Given the description of an element on the screen output the (x, y) to click on. 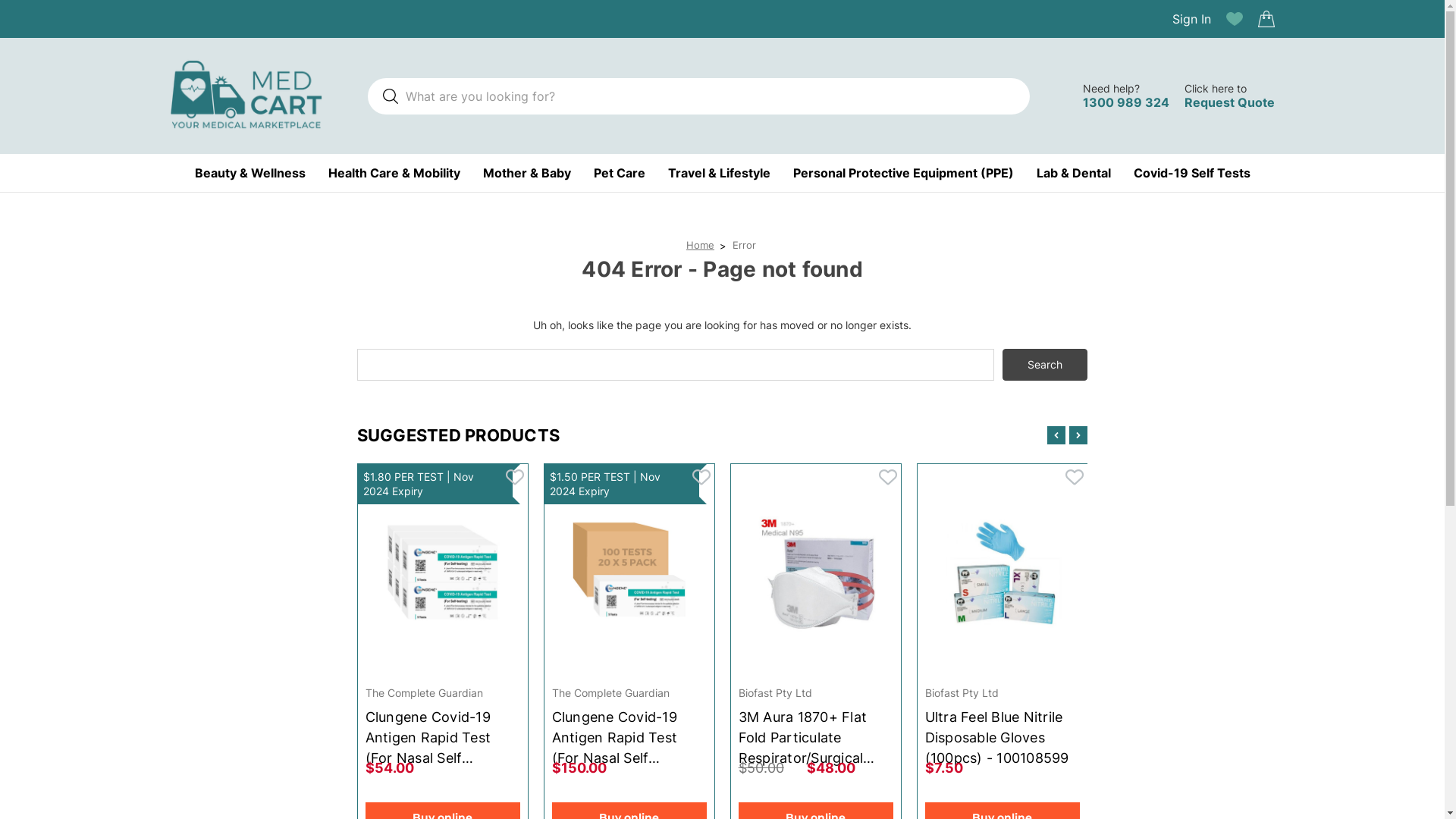
Lab & Dental Element type: text (1072, 172)
Personal Protective Equipment (PPE) Element type: text (903, 172)
Travel & Lifestyle Element type: text (718, 172)
Beauty & Wellness Element type: text (249, 172)
Pet Care Element type: text (618, 172)
Search Element type: text (1044, 364)
Request Quote Element type: text (1229, 101)
1300 989 324 Element type: text (1125, 101)
Covid-19 Self Tests Element type: text (1190, 172)
Health Care & Mobility Element type: text (393, 172)
MedCart Element type: hover (245, 95)
Home Element type: text (700, 244)
Mother & Baby Element type: text (526, 172)
Sign In Element type: text (1191, 18)
